Given the description of an element on the screen output the (x, y) to click on. 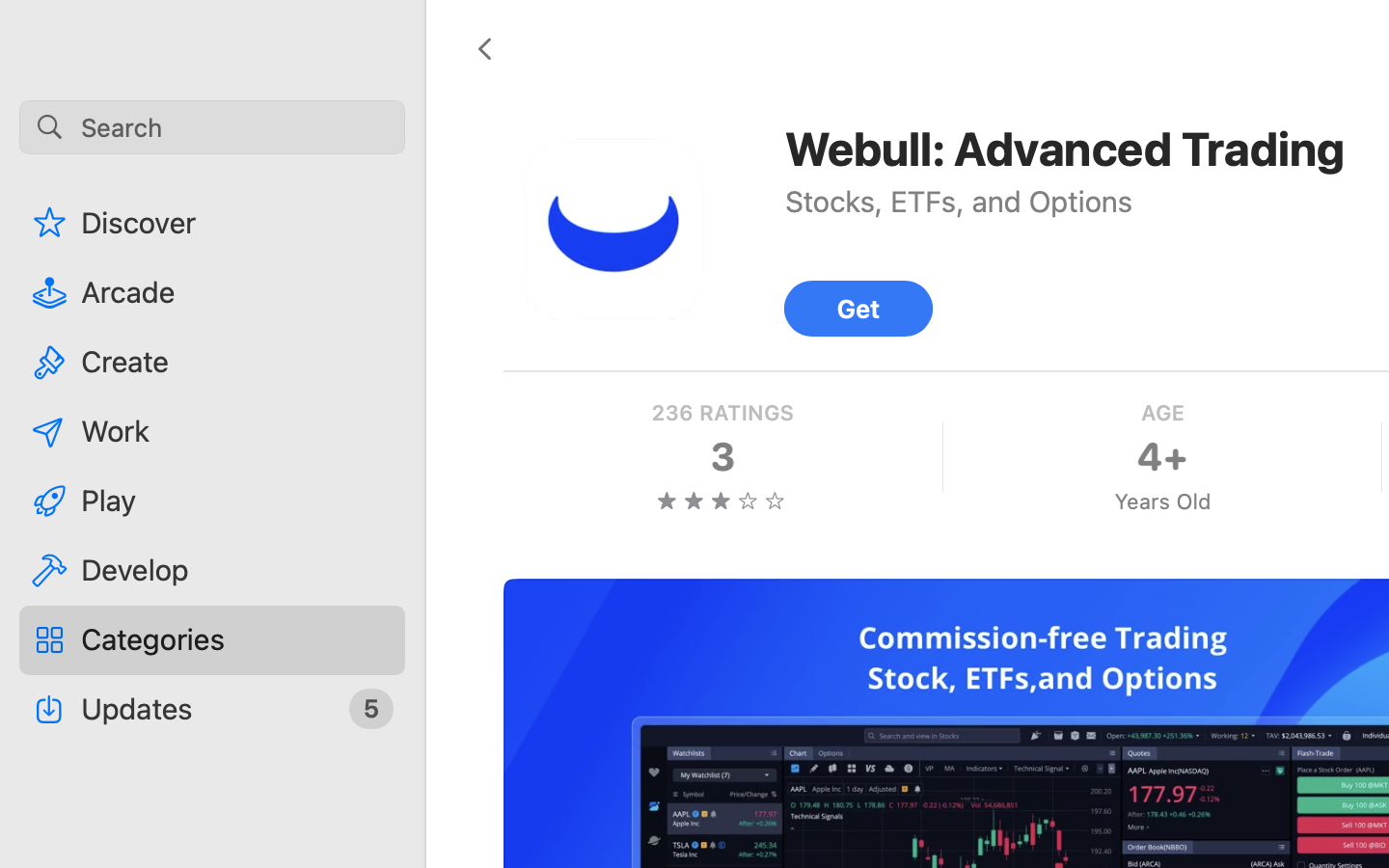
three stars Element type: AXStaticText (722, 500)
three stars, 236 RATINGS, 3 Element type: AXStaticText (722, 456)
Years Old, AGE, 4+ Element type: AXStaticText (1161, 456)
